Given the description of an element on the screen output the (x, y) to click on. 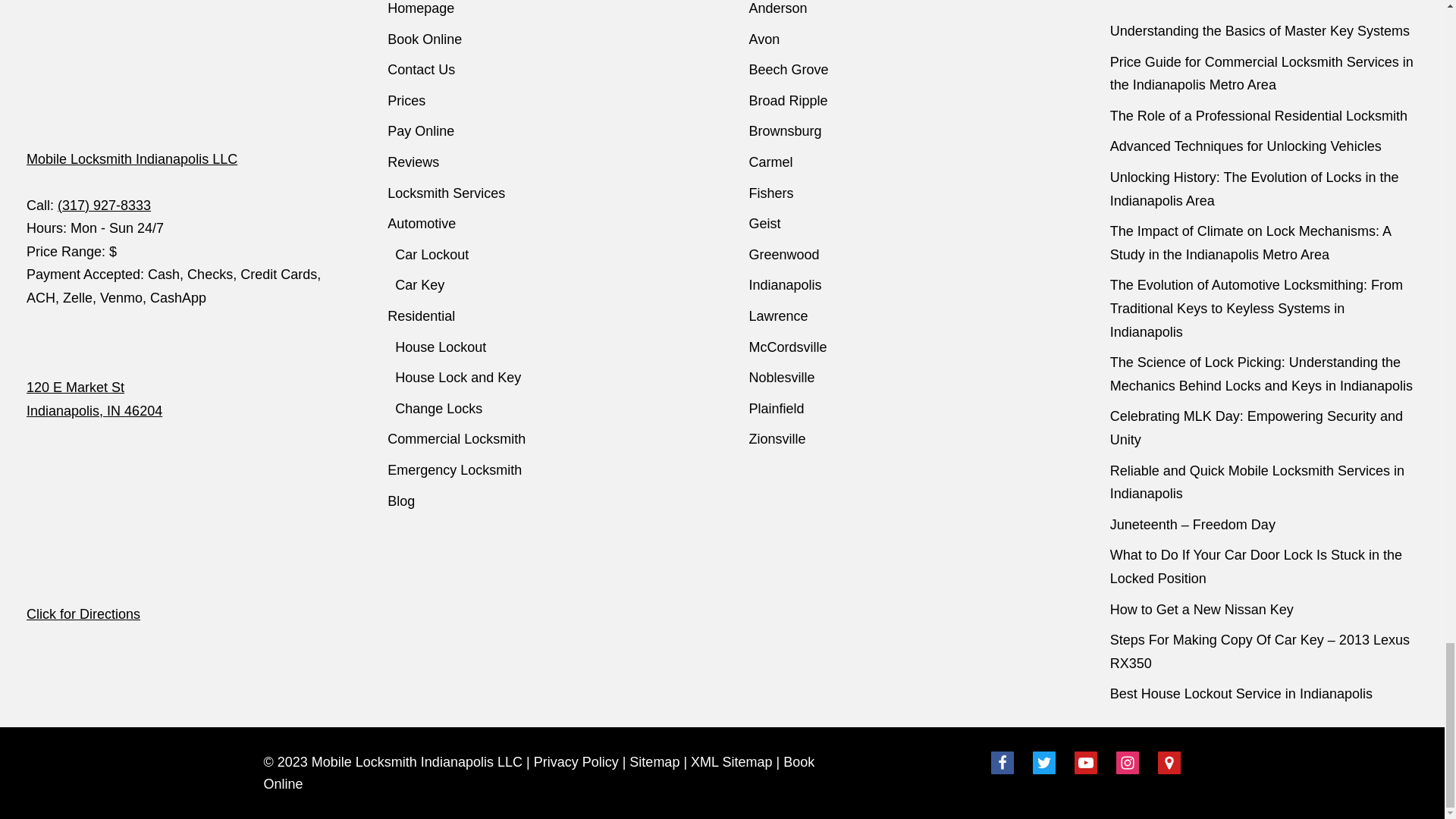
Twitter (1043, 762)
Facebook (1002, 762)
Google (1168, 762)
Instagram (1127, 762)
Youtube (1085, 762)
